Given the description of an element on the screen output the (x, y) to click on. 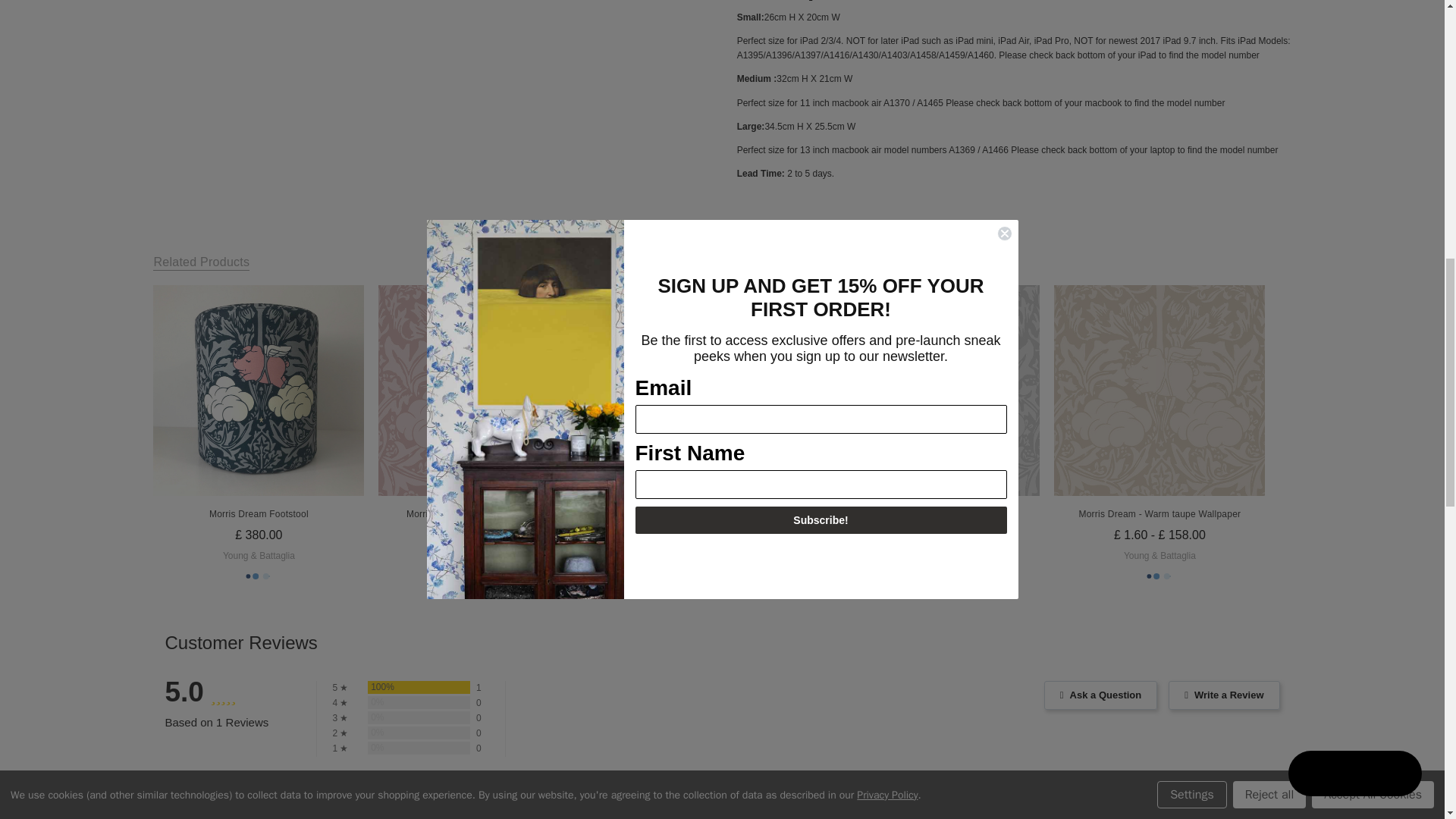
Young and Battaglia Morris Dream - Warm clay Wallpaper (483, 390)
